Given the description of an element on the screen output the (x, y) to click on. 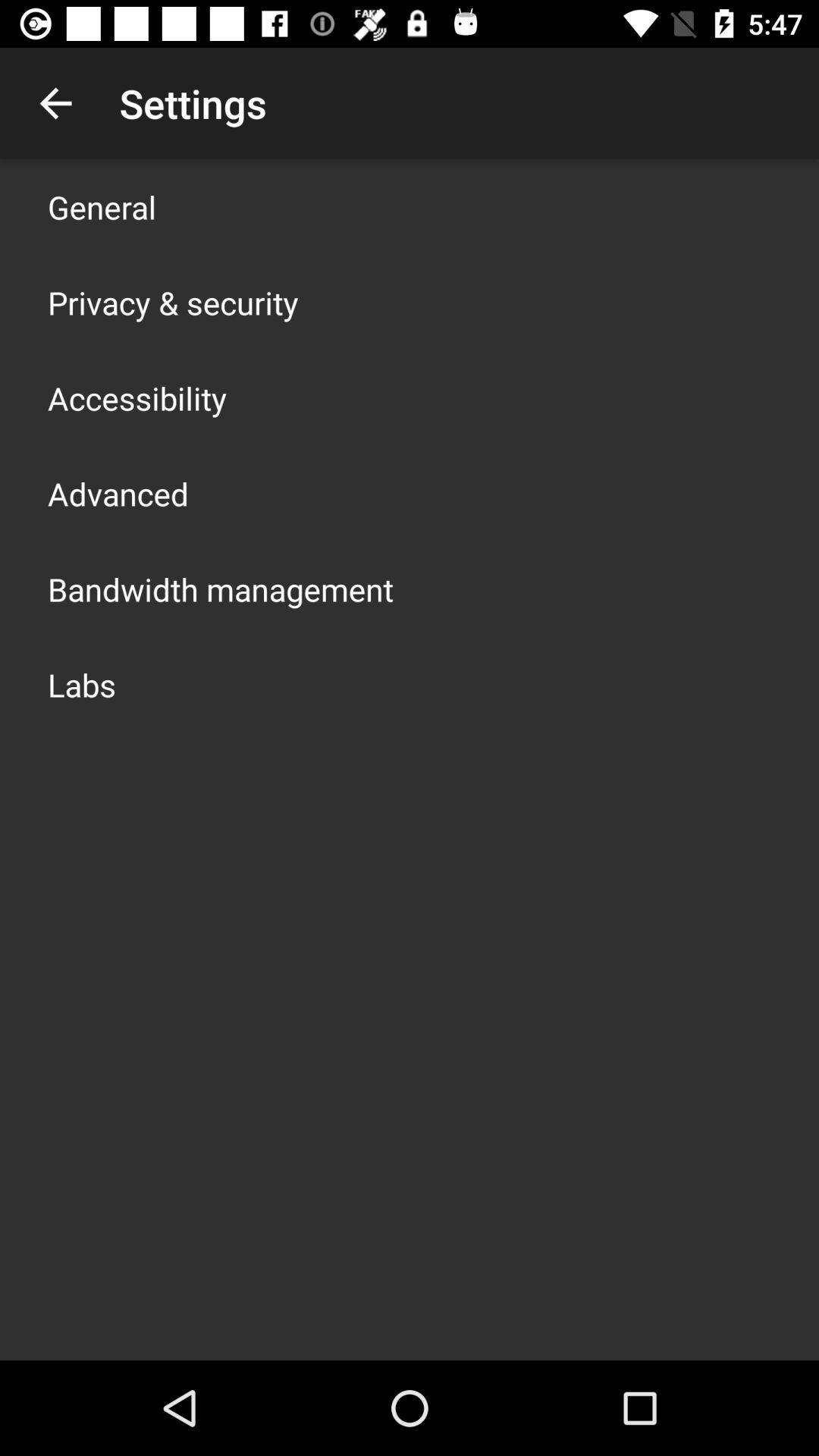
click the general (101, 206)
